Given the description of an element on the screen output the (x, y) to click on. 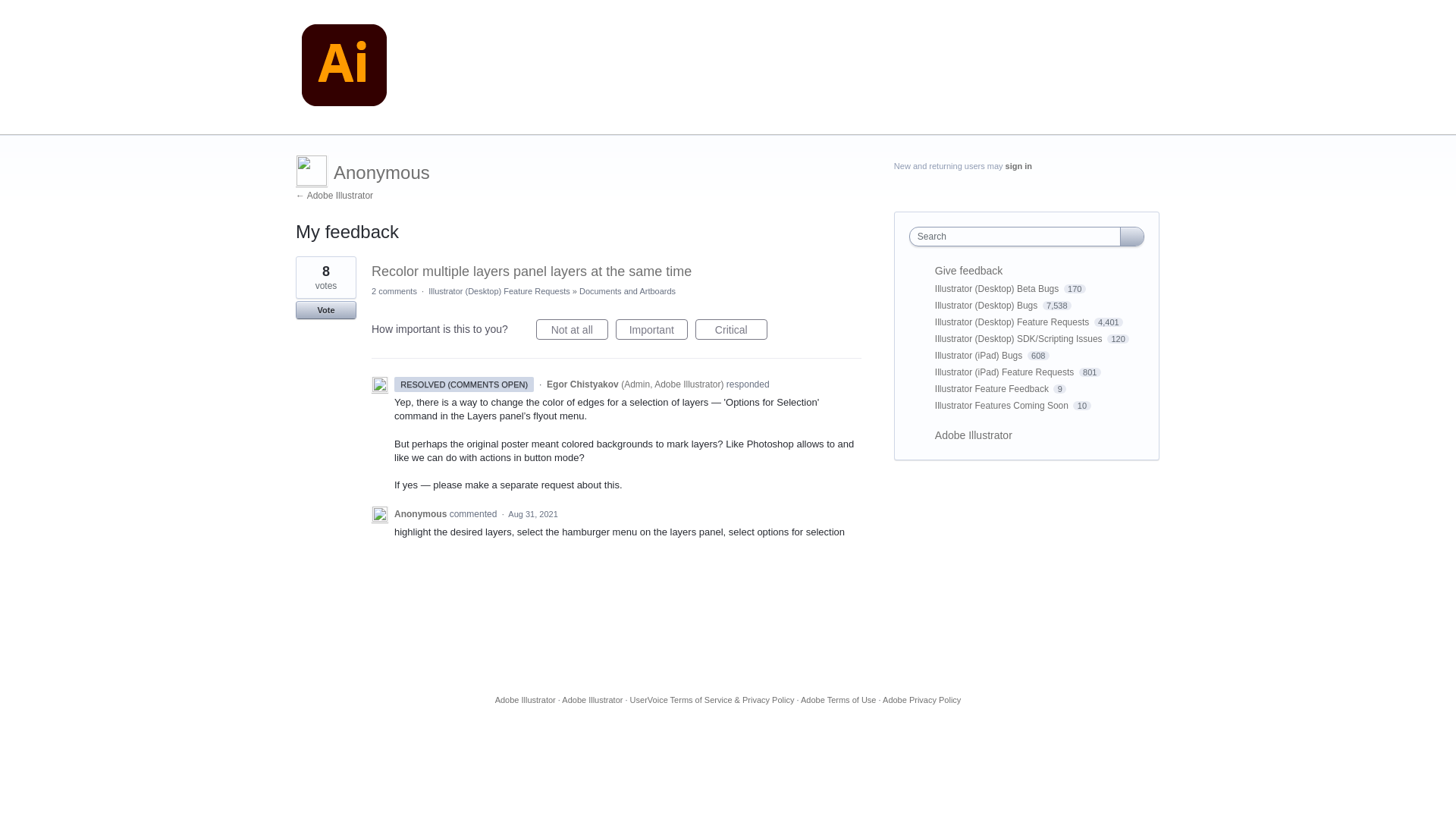
Not at all (571, 329)
Recolor multiple layers panel layers at the same time (531, 271)
Documents and Artboards (627, 290)
Important (651, 329)
Anonymous (381, 172)
Critical (731, 329)
Adobe Illustrator (333, 195)
Adobe Illustrator (344, 67)
sign in (1019, 165)
Anonymous (421, 512)
Vote (325, 310)
2 comments (393, 290)
